Given the description of an element on the screen output the (x, y) to click on. 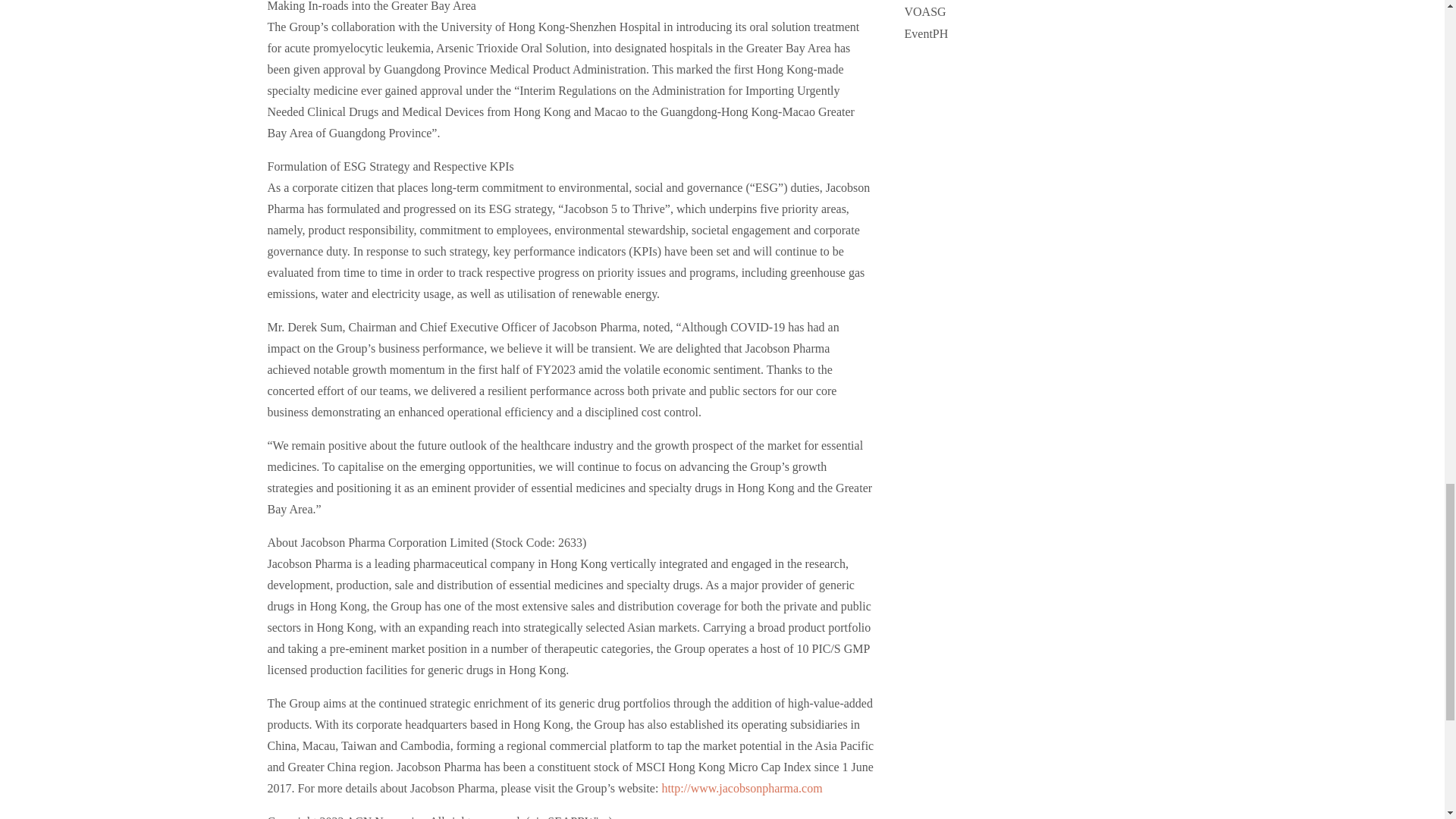
VOASG (924, 11)
